Given the description of an element on the screen output the (x, y) to click on. 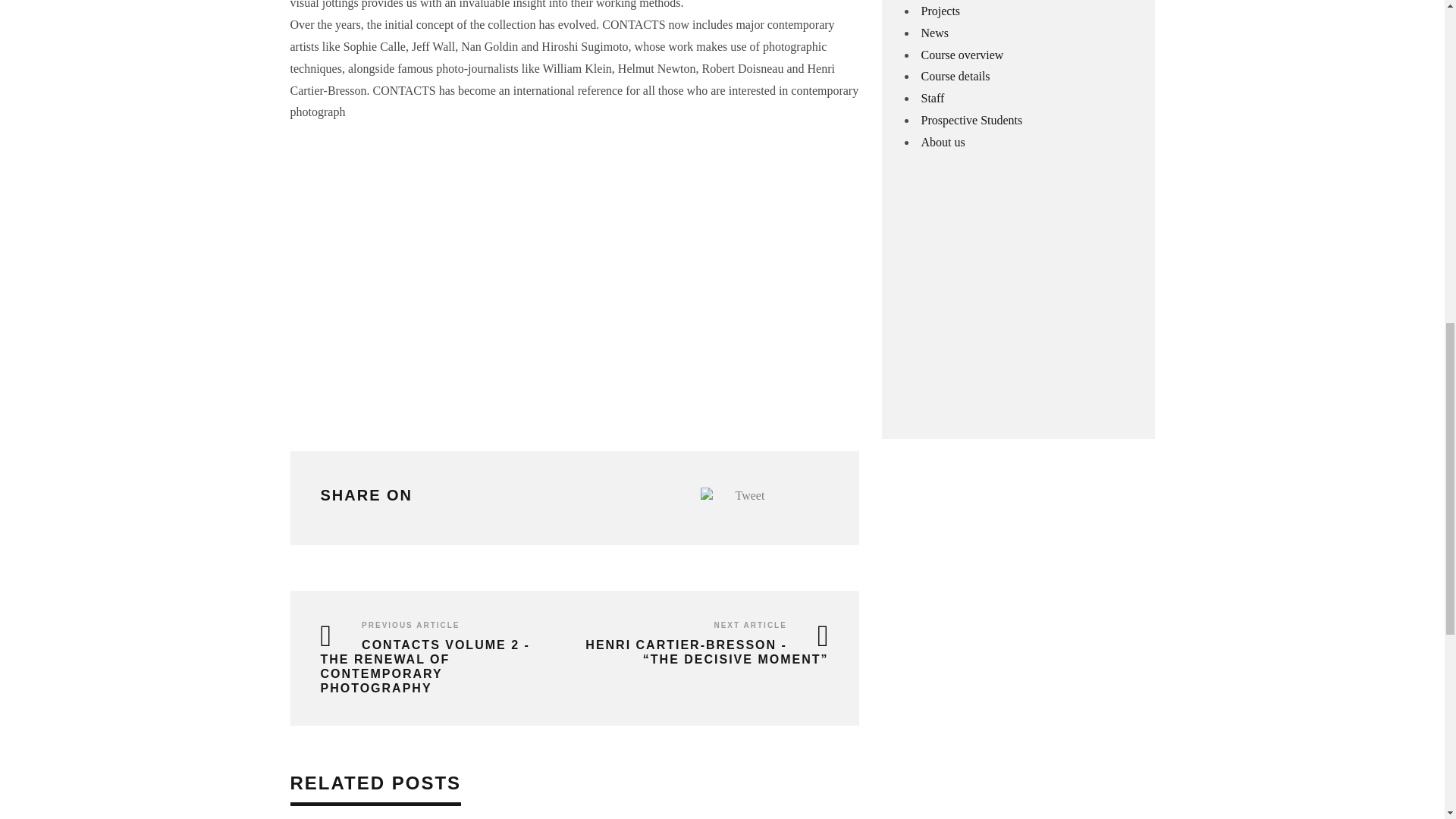
PREVIOUS ARTICLE (410, 624)
CONTACTS VOLUME 2 - THE RENEWAL OF CONTEMPORARY PHOTOGRAPHY (424, 666)
Tweet (750, 495)
NEXT ARTICLE (749, 624)
